Given the description of an element on the screen output the (x, y) to click on. 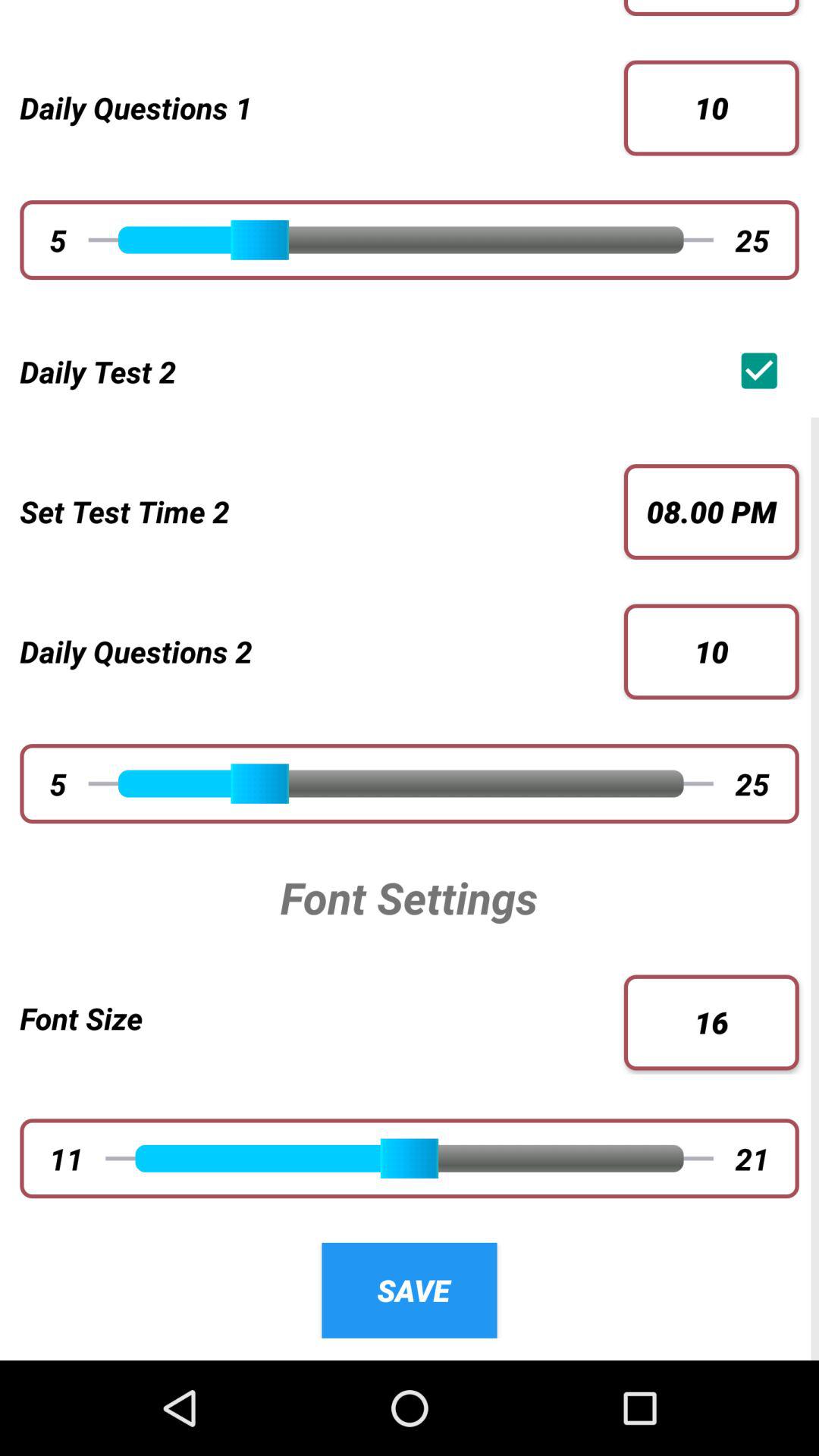
flip until 21 app (752, 1158)
